Given the description of an element on the screen output the (x, y) to click on. 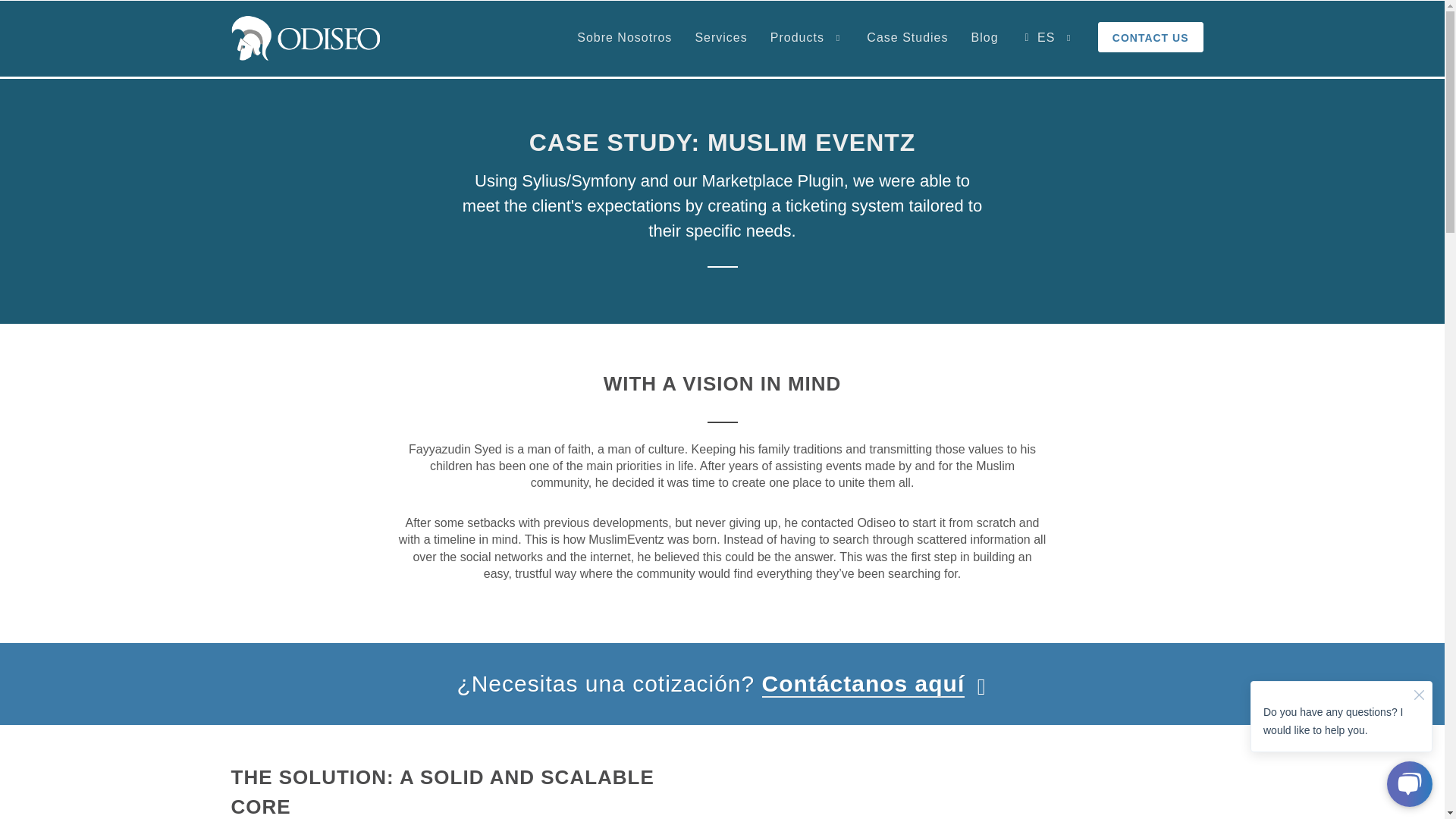
Sobre Nosotros (624, 38)
Products (808, 38)
Sobre Nosotros (624, 38)
Contact Us (1150, 39)
Blog (984, 38)
Blog (984, 38)
Services (720, 38)
ES (1048, 38)
odiseo logo (305, 38)
Services (720, 38)
CONTACT US (1150, 39)
Case Studies (907, 38)
Products (808, 38)
Case Studies (907, 38)
